Given the description of an element on the screen output the (x, y) to click on. 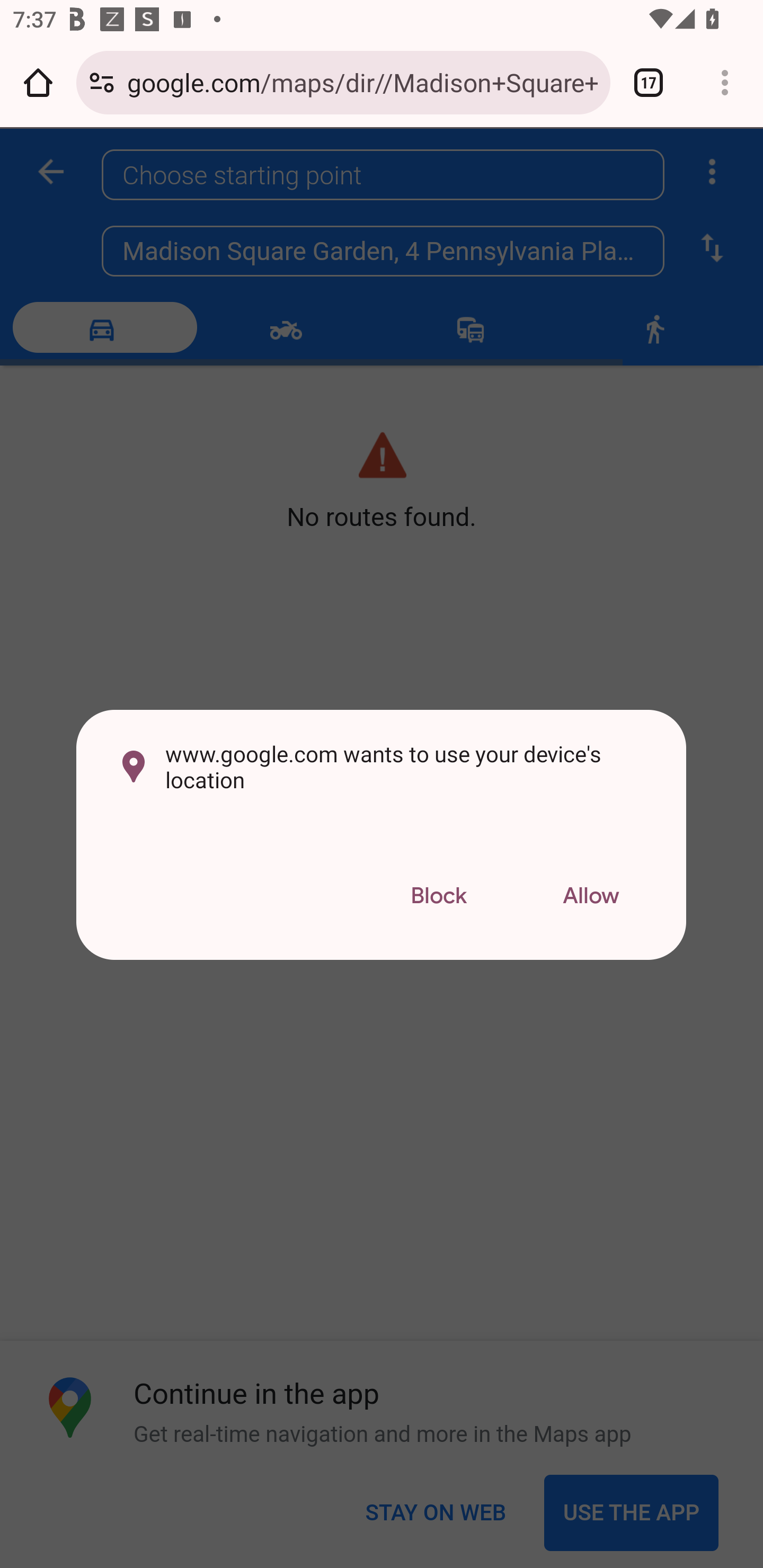
Block (438, 895)
Allow (590, 895)
